Given the description of an element on the screen output the (x, y) to click on. 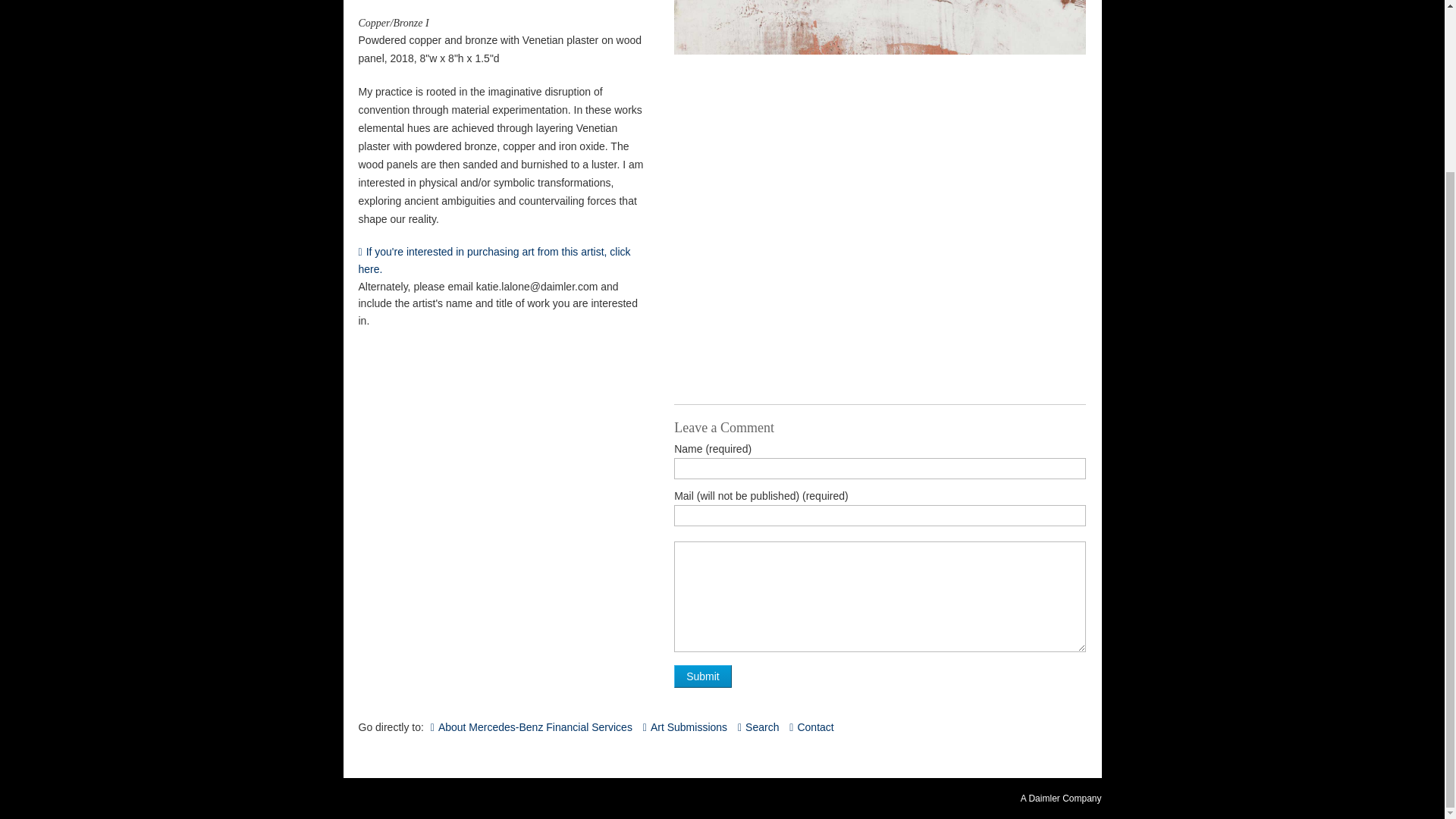
About Mercedes-Benz Financial Services (530, 727)
Submit (703, 676)
Permanent Link to Walker Meredith (500, 260)
Search (758, 727)
Art Submissions (684, 727)
Submit (703, 676)
Contact (810, 727)
